Given the description of an element on the screen output the (x, y) to click on. 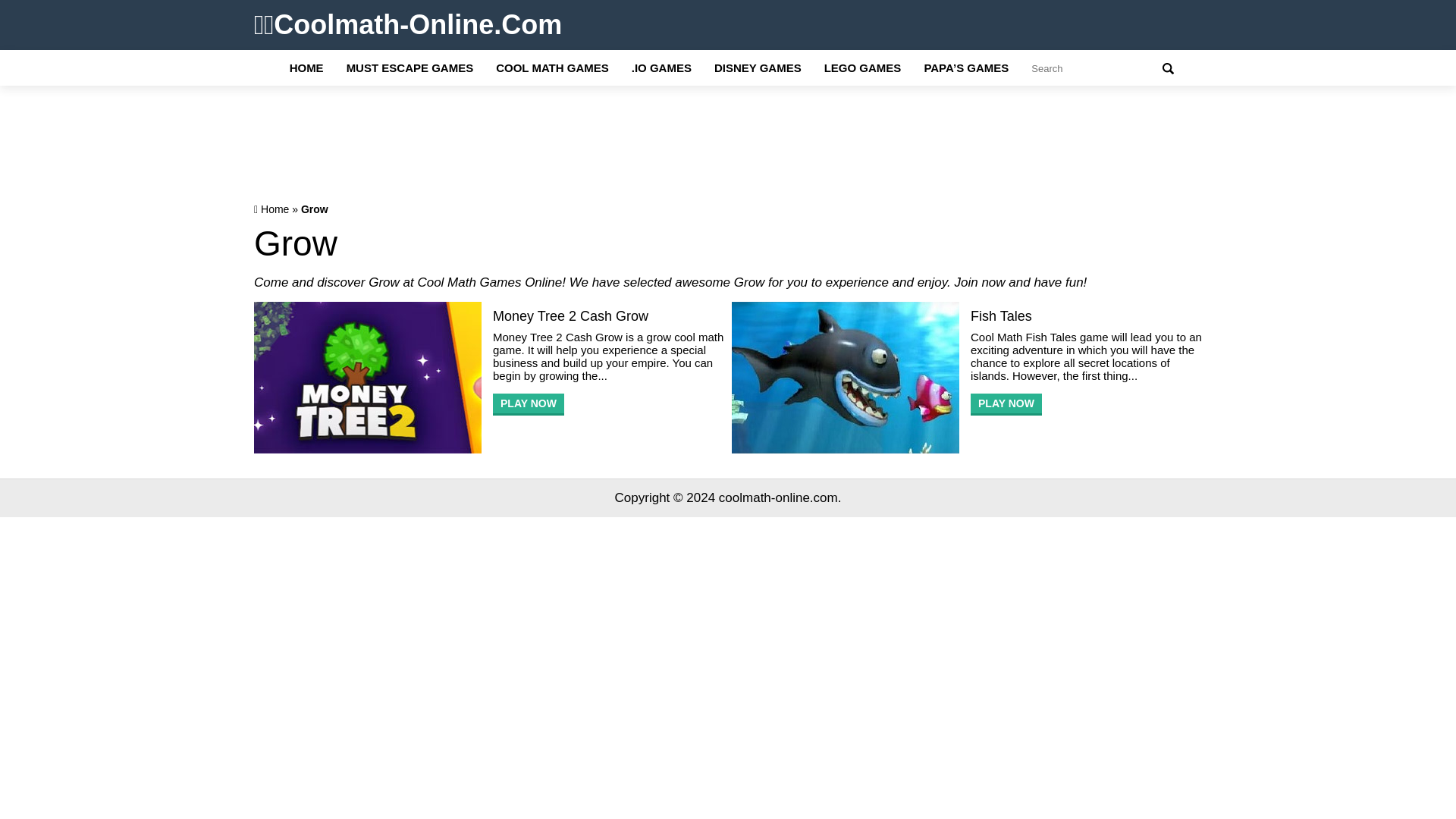
Money Tree 2 Cash Grow (528, 404)
Fish Tales (1086, 315)
Disney Games (757, 67)
Fish Tales (1086, 315)
Cool Math Games (552, 67)
Must Escape Games (409, 67)
HOME (306, 67)
Home (274, 209)
COOL MATH GAMES (552, 67)
Money Tree 2 Cash Grow (608, 315)
Lego Games (862, 67)
Fish Tales (1006, 404)
.io Games (661, 67)
PLAY NOW (1006, 404)
coolmath-online.com (778, 497)
